Given the description of an element on the screen output the (x, y) to click on. 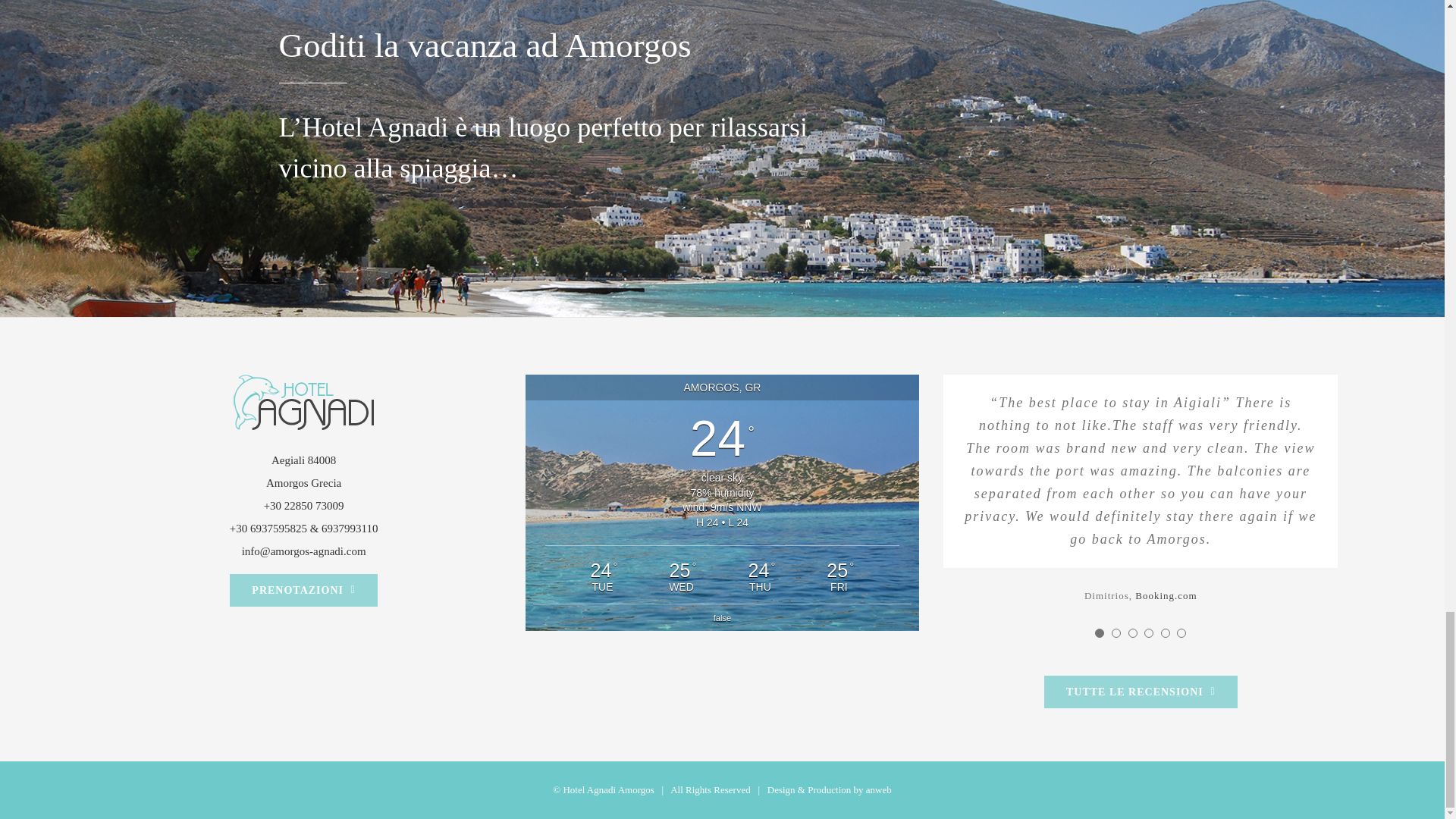
Booking.com (1165, 595)
PRENOTAZIONI (303, 590)
TUTTE LE RECENSIONI (1140, 691)
anweb (878, 789)
Hotel Agnadi Amorgos (607, 789)
false (722, 617)
